Given the description of an element on the screen output the (x, y) to click on. 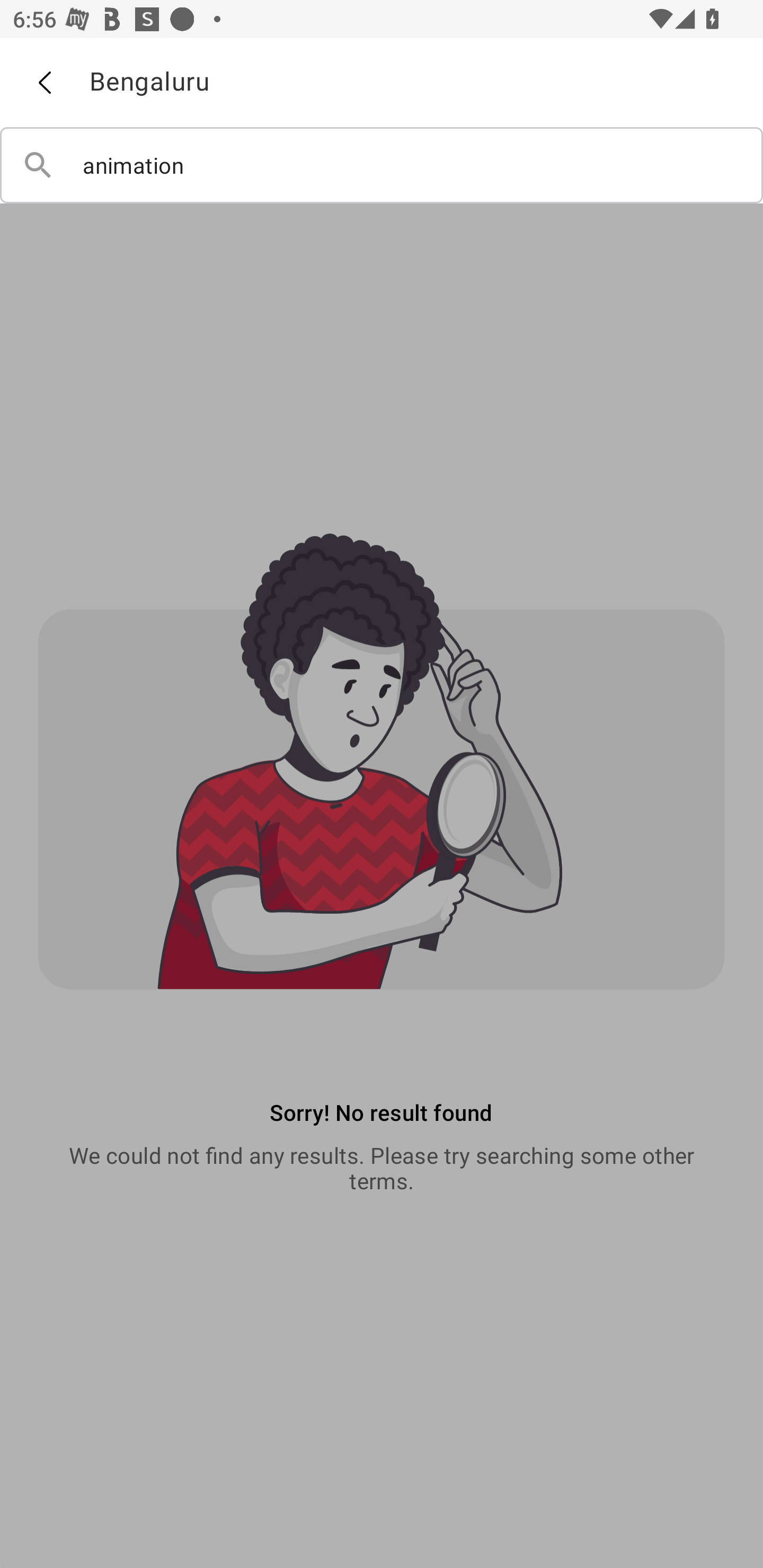
Back (44, 82)
animation (381, 165)
